Given the description of an element on the screen output the (x, y) to click on. 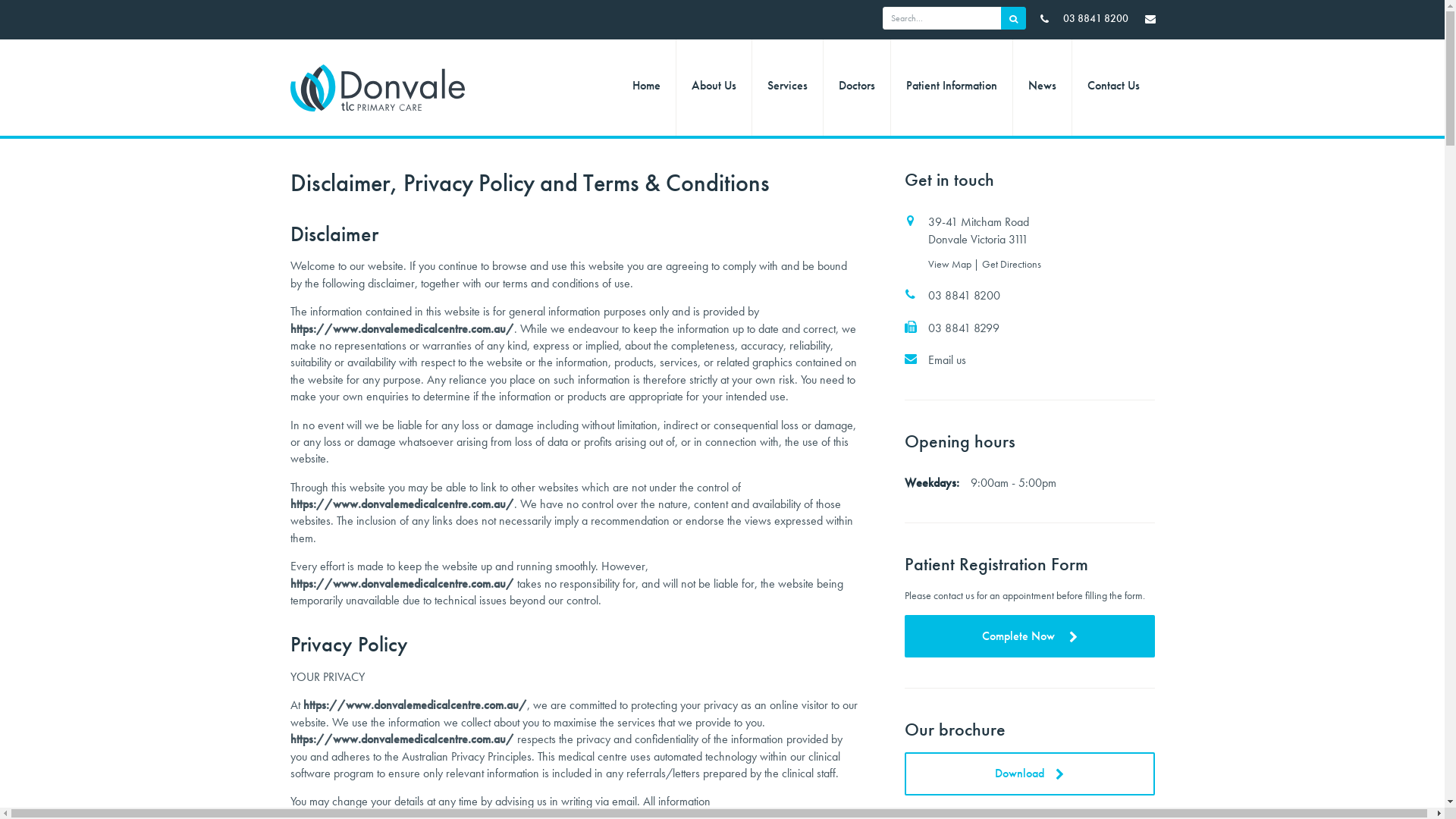
Patient Information Element type: text (950, 87)
TLC Primary Care - Donvale | Logo Element type: hover (384, 87)
View Map Element type: text (950, 263)
Download Element type: text (1029, 773)
Home Element type: text (646, 87)
Get Directions Element type: text (1011, 263)
Contact Us Element type: text (1113, 87)
TLC Primary Care - Donvale | Email Us Element type: hover (1150, 18)
Doctors Element type: text (856, 87)
About Us Element type: text (713, 87)
Complete Now Element type: text (1029, 636)
03 8841 8200 Element type: text (1029, 295)
Email us Element type: text (1029, 359)
Services Element type: text (787, 87)
 03 8841 8200 Element type: text (1084, 17)
News Element type: text (1042, 87)
